Given the description of an element on the screen output the (x, y) to click on. 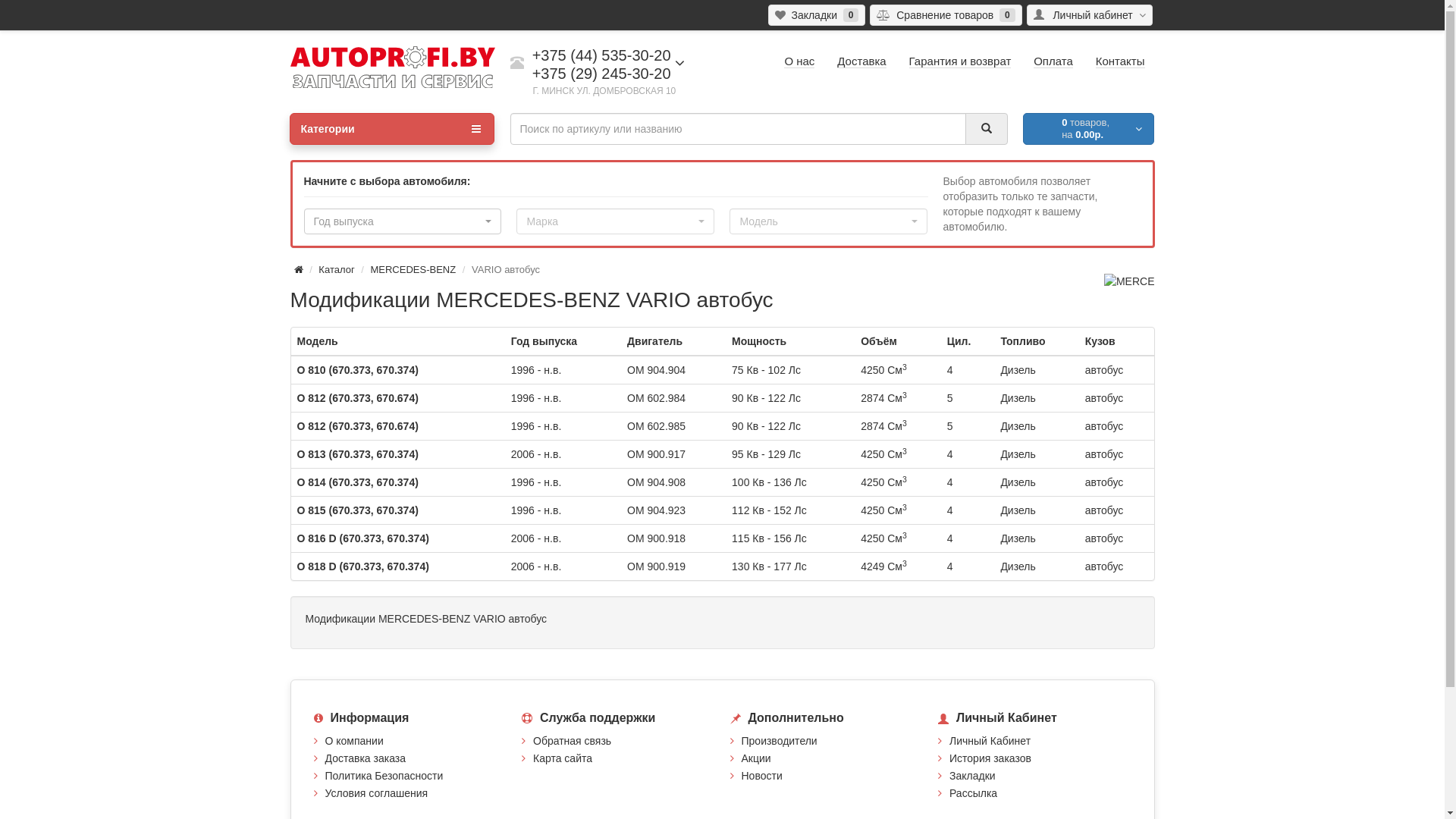
O 815 (670.373, 670.374) Element type: text (357, 510)
O 812 (670.373, 670.674) Element type: text (357, 426)
O 812 (670.373, 670.674) Element type: text (357, 398)
MERCEDES-BENZ Element type: text (412, 269)
O 814 (670.373, 670.374) Element type: text (357, 482)
O 813 (670.373, 670.374) Element type: text (357, 454)
O 818 D (670.373, 670.374) Element type: text (363, 566)
O 810 (670.373, 670.374) Element type: text (357, 370)
O 816 D (670.373, 670.374) Element type: text (363, 538)
